Given the description of an element on the screen output the (x, y) to click on. 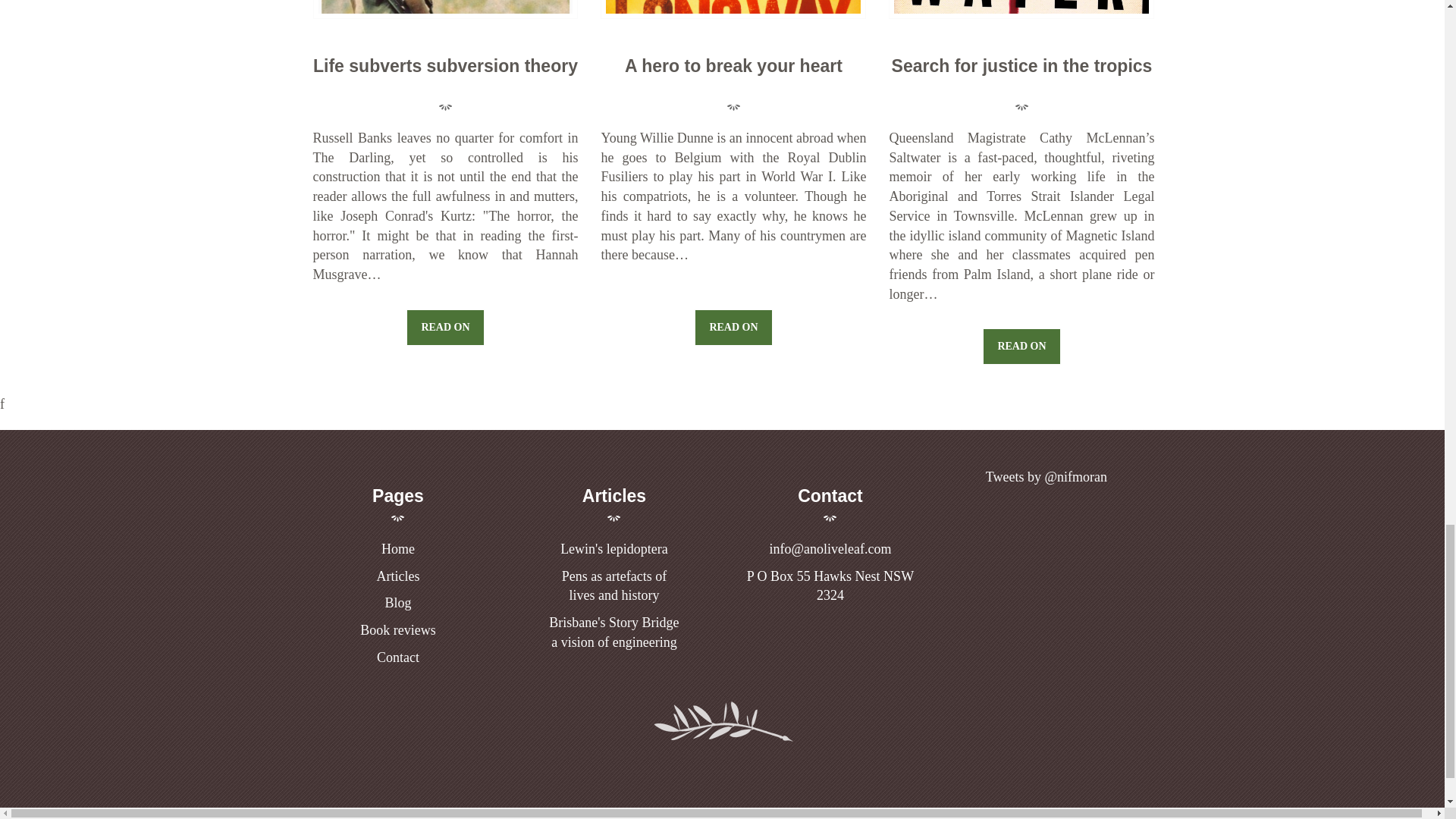
Articles (397, 575)
Blog (397, 602)
READ ON (732, 327)
READ ON (613, 632)
Website by BA Creative Brisbane (444, 327)
Home (795, 816)
READ ON (397, 548)
Contact (1020, 346)
Book reviews (398, 657)
